Given the description of an element on the screen output the (x, y) to click on. 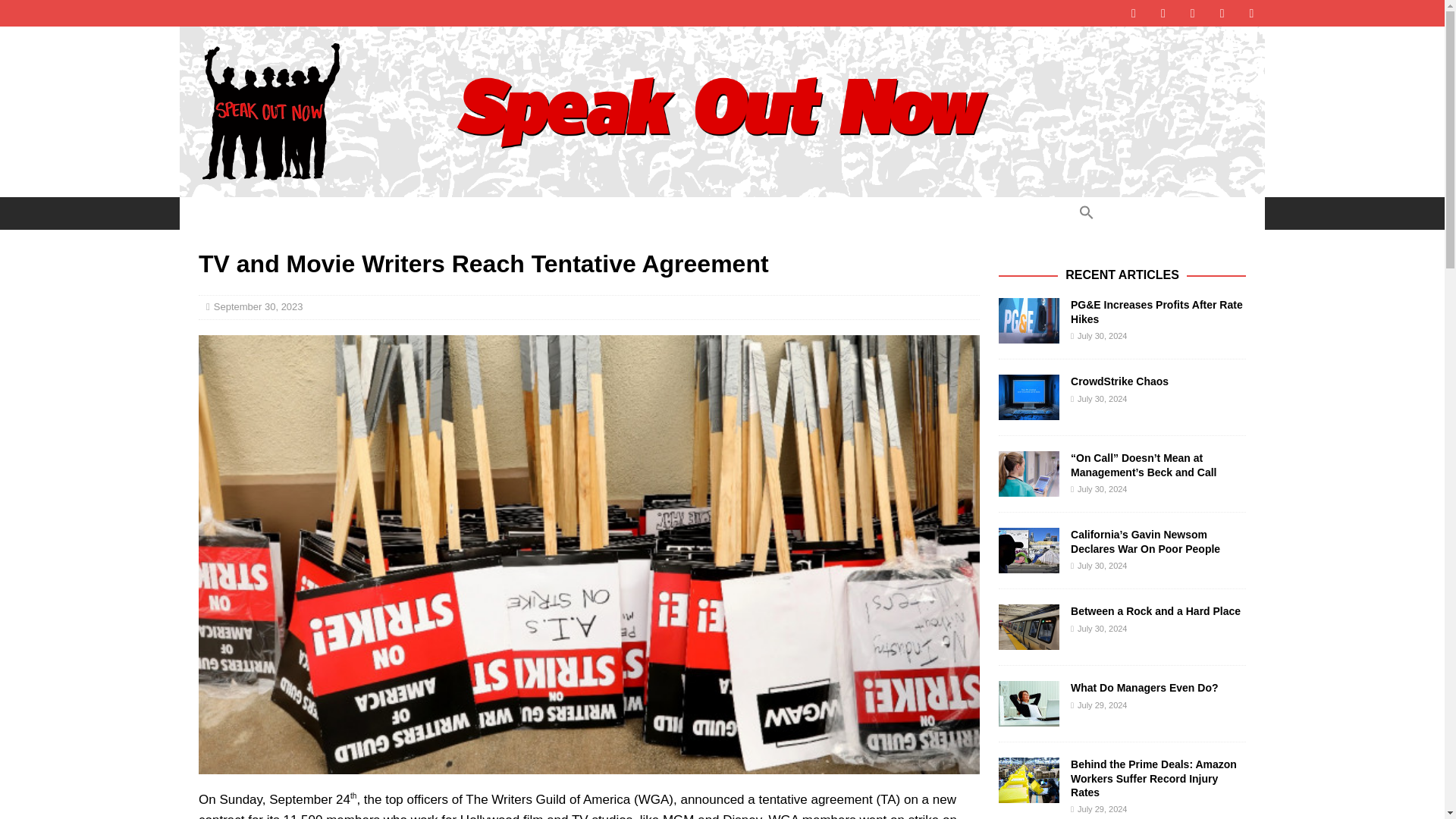
EVENTS (465, 213)
Speak Out Now (722, 188)
PUBLICATIONS (561, 213)
ABOUT US (381, 213)
WORKPLACE NEWSLETTERS (711, 213)
